Given the description of an element on the screen output the (x, y) to click on. 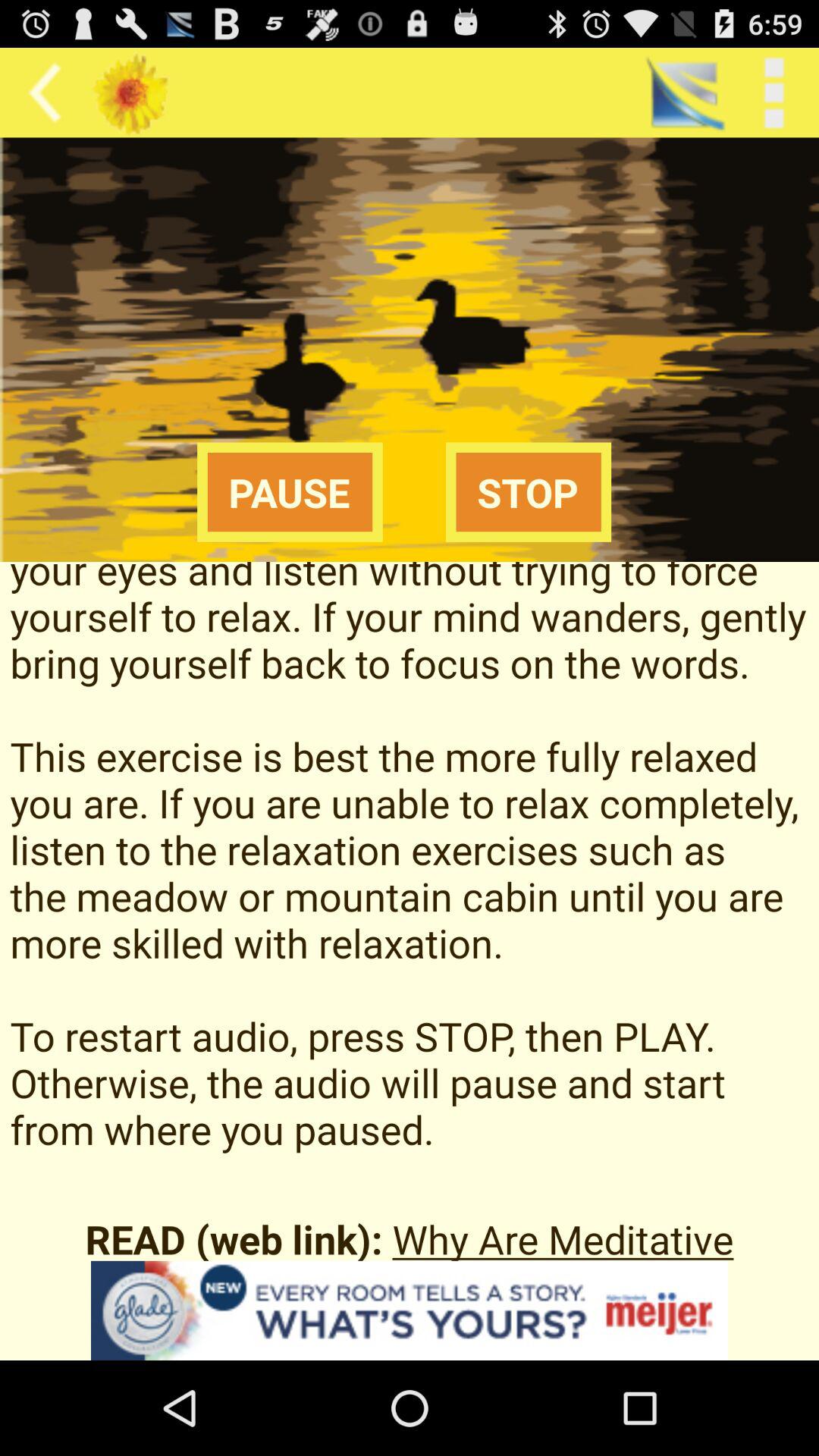
open the advertisement (409, 1310)
